Given the description of an element on the screen output the (x, y) to click on. 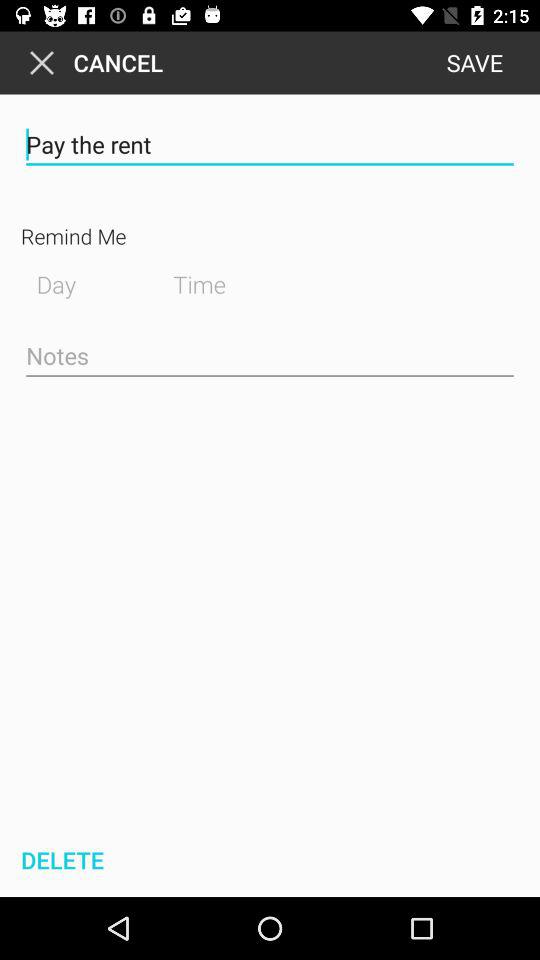
open icon next to day item (215, 281)
